Given the description of an element on the screen output the (x, y) to click on. 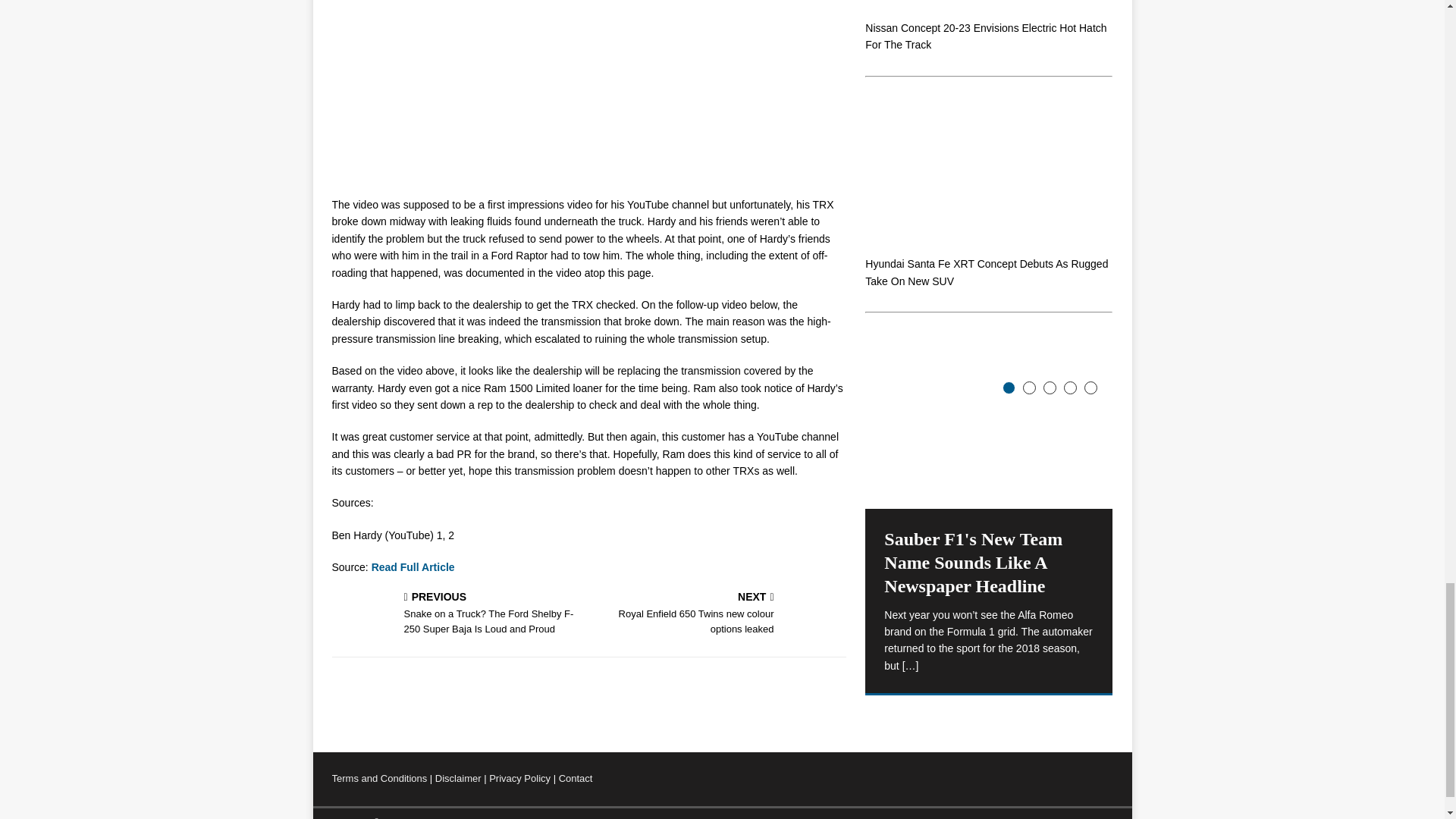
Read Full Article (412, 567)
